Given the description of an element on the screen output the (x, y) to click on. 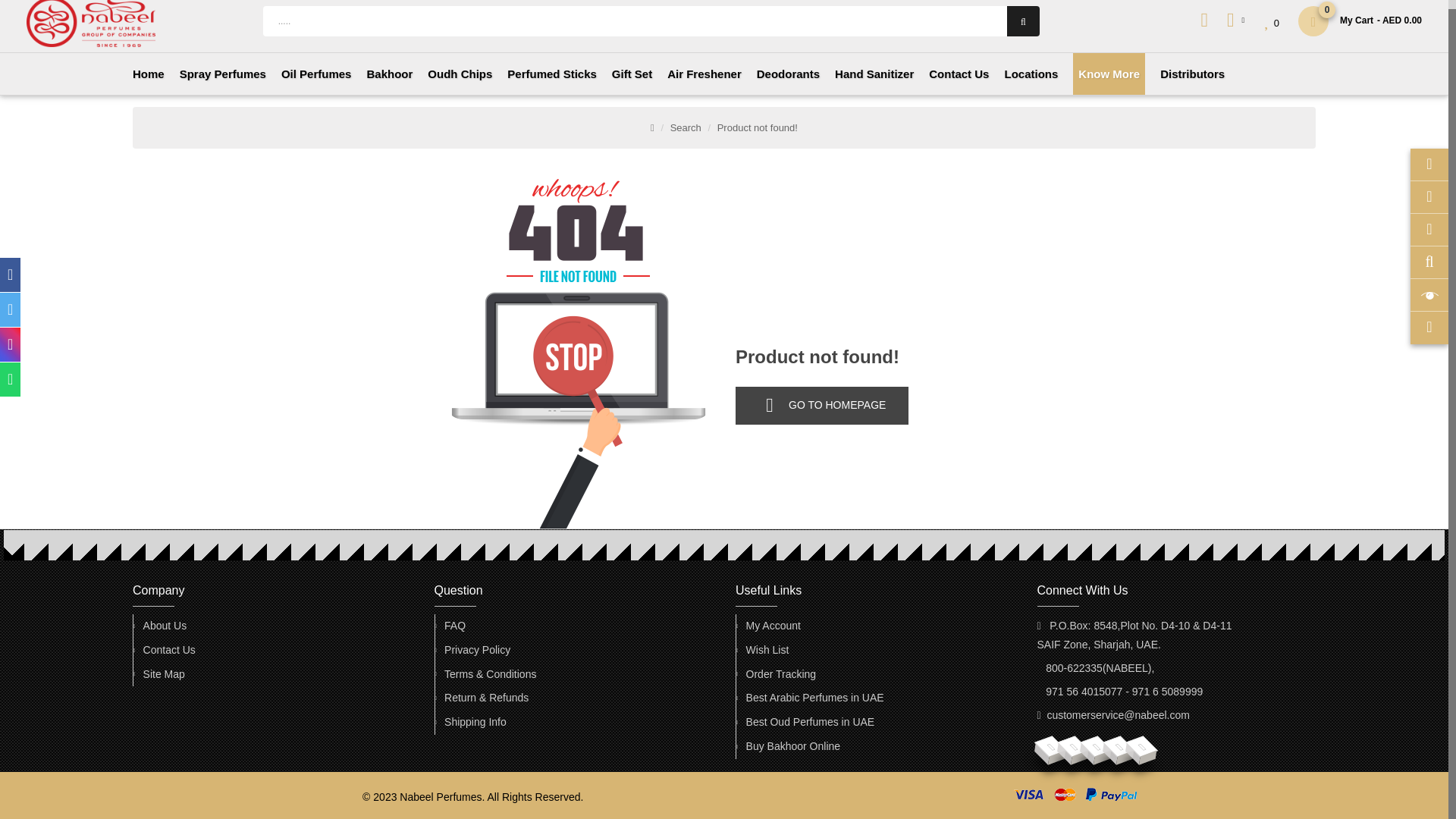
Return (486, 697)
Contact Us (168, 650)
Hand Sanitizer (874, 74)
Know More (1109, 74)
Locations (1031, 74)
0 (1272, 22)
Bakhoor (389, 74)
Go to homepage (821, 405)
wishlist (767, 650)
Oil Perfumes (316, 74)
Distributors (1192, 74)
Gift Set (631, 74)
Product not found! (757, 127)
Air Freshener (703, 74)
Perfumed Sticks (551, 74)
